Given the description of an element on the screen output the (x, y) to click on. 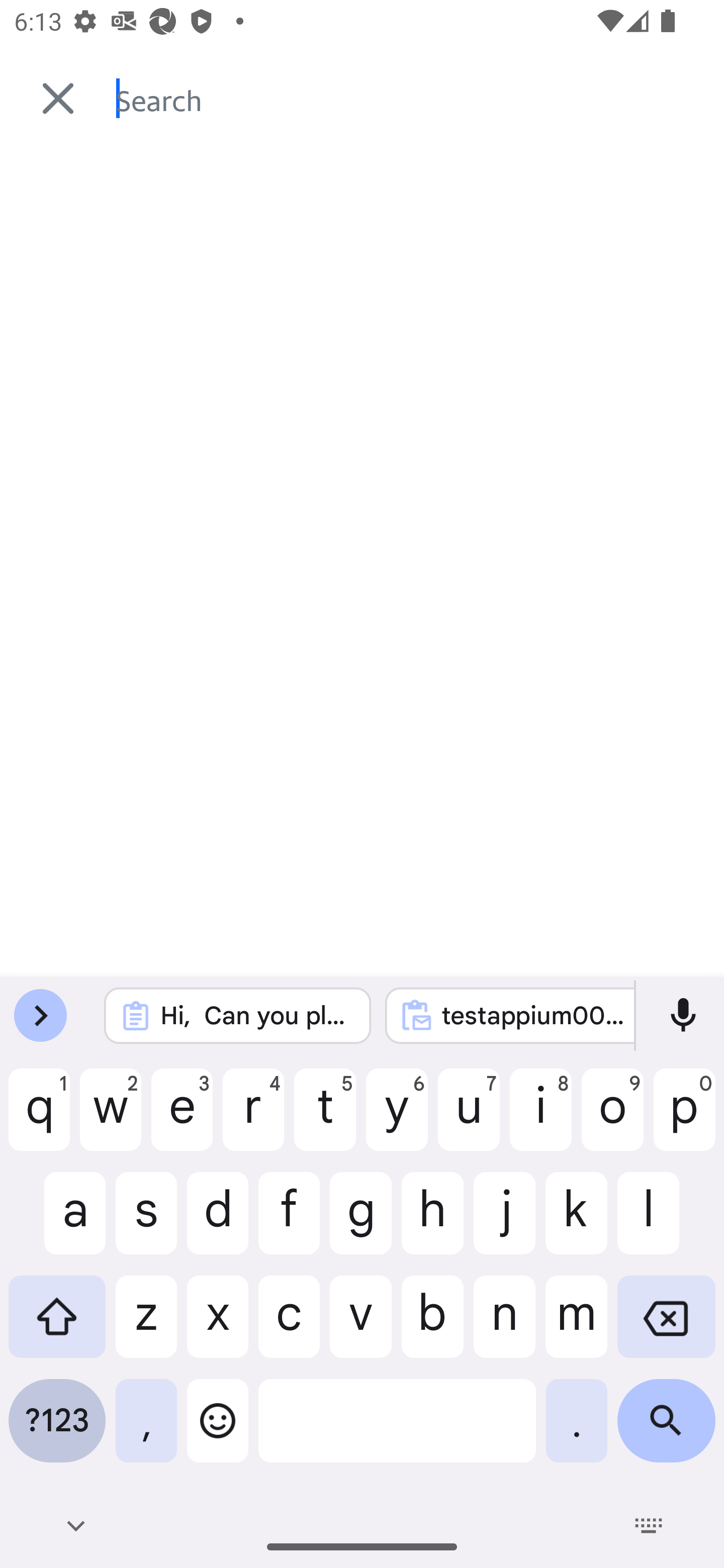
Back (49, 98)
Search (419, 98)
